Given the description of an element on the screen output the (x, y) to click on. 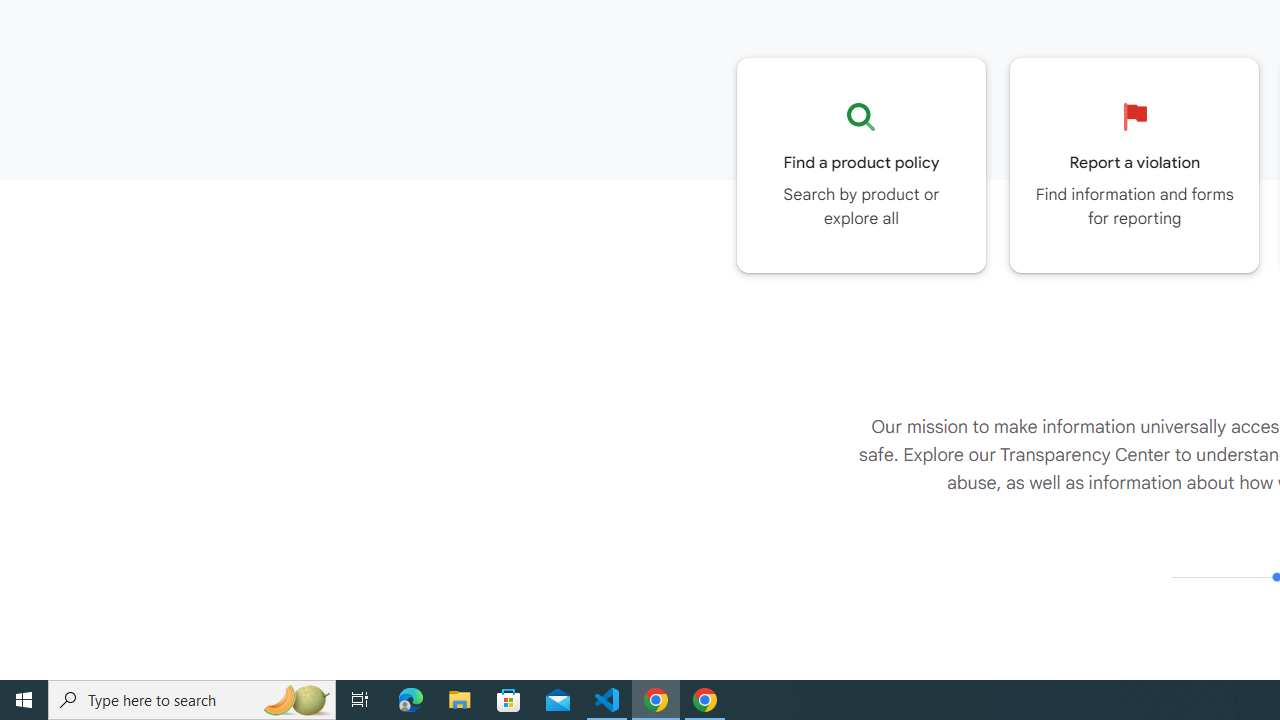
Go to the Reporting and appeals page (1134, 165)
Go to the Product policy page (861, 165)
